Given the description of an element on the screen output the (x, y) to click on. 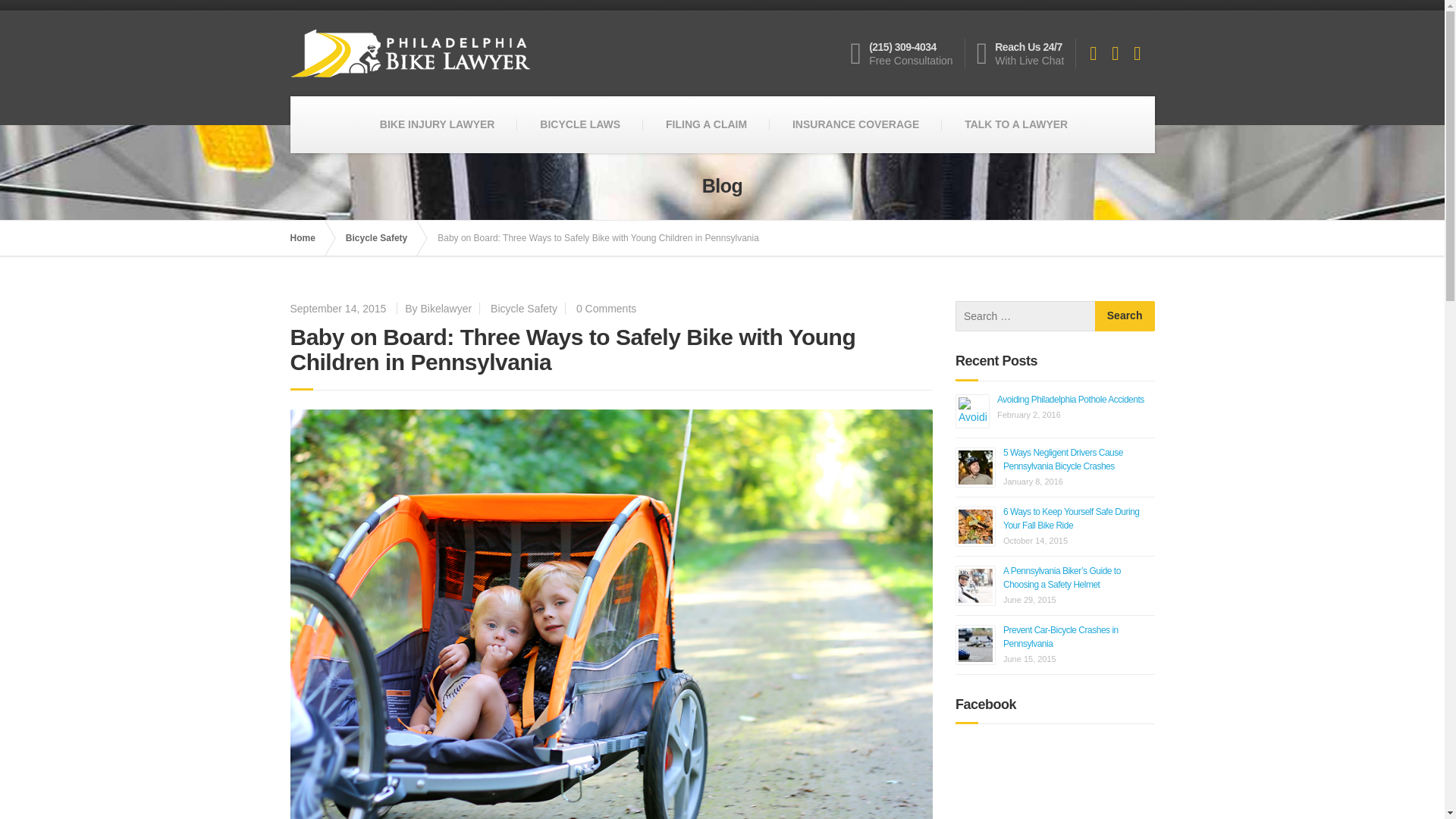
Search (1124, 316)
Permalink to Prevent Car-Bicycle Crashes in Pennsylvania (1060, 636)
BIKE INJURY LAWYER (437, 124)
FILING A CLAIM (706, 124)
Go to Philadelphia Bike Lawyer. (309, 237)
Bicycle Safety (384, 237)
TALK TO A LAWYER (1016, 124)
Home (309, 237)
Bicycle Safety (523, 308)
6 Ways to Keep Yourself Safe During Your Fall Bike Ride (1071, 518)
Avoiding Philadelphia Pothole Accidents (1070, 398)
Permalink to Avoiding Philadelphia Pothole Accidents (1070, 398)
Search (1124, 316)
